Given the description of an element on the screen output the (x, y) to click on. 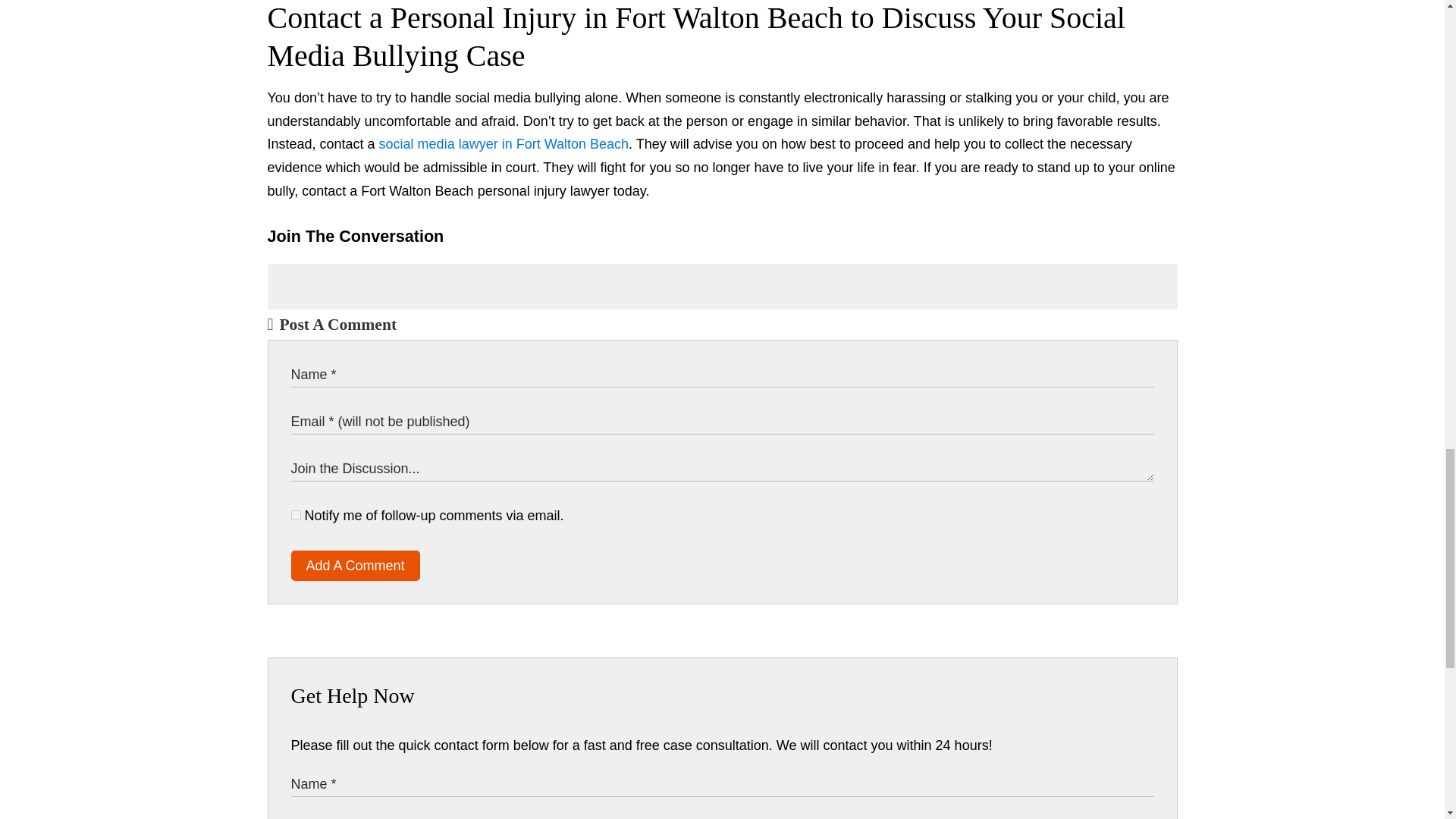
1 (296, 515)
